Given the description of an element on the screen output the (x, y) to click on. 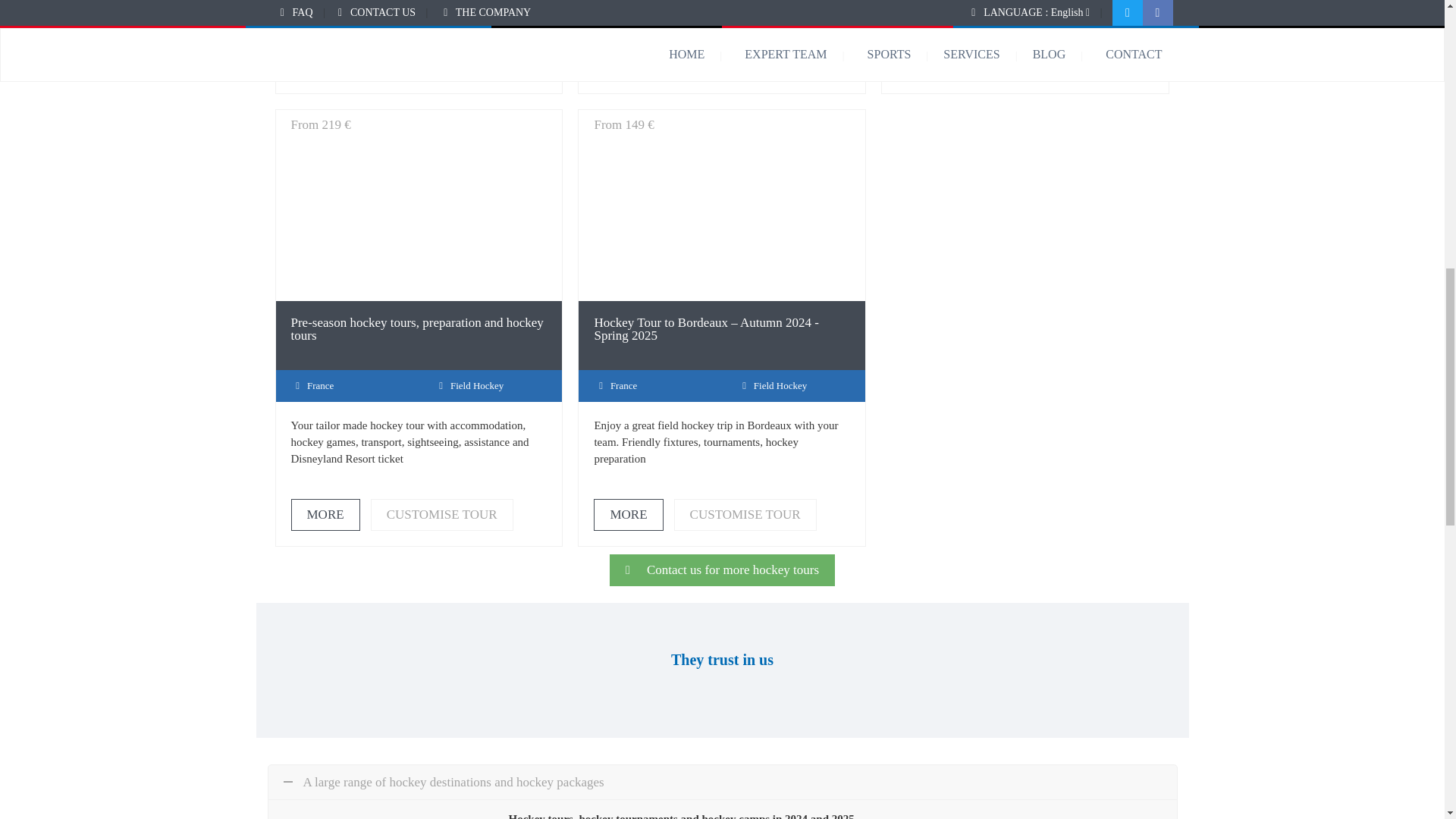
MORE (628, 61)
CUSTOMISE TOUR (745, 61)
CUSTOMISE TOUR (442, 61)
MORE (325, 61)
